Given the description of an element on the screen output the (x, y) to click on. 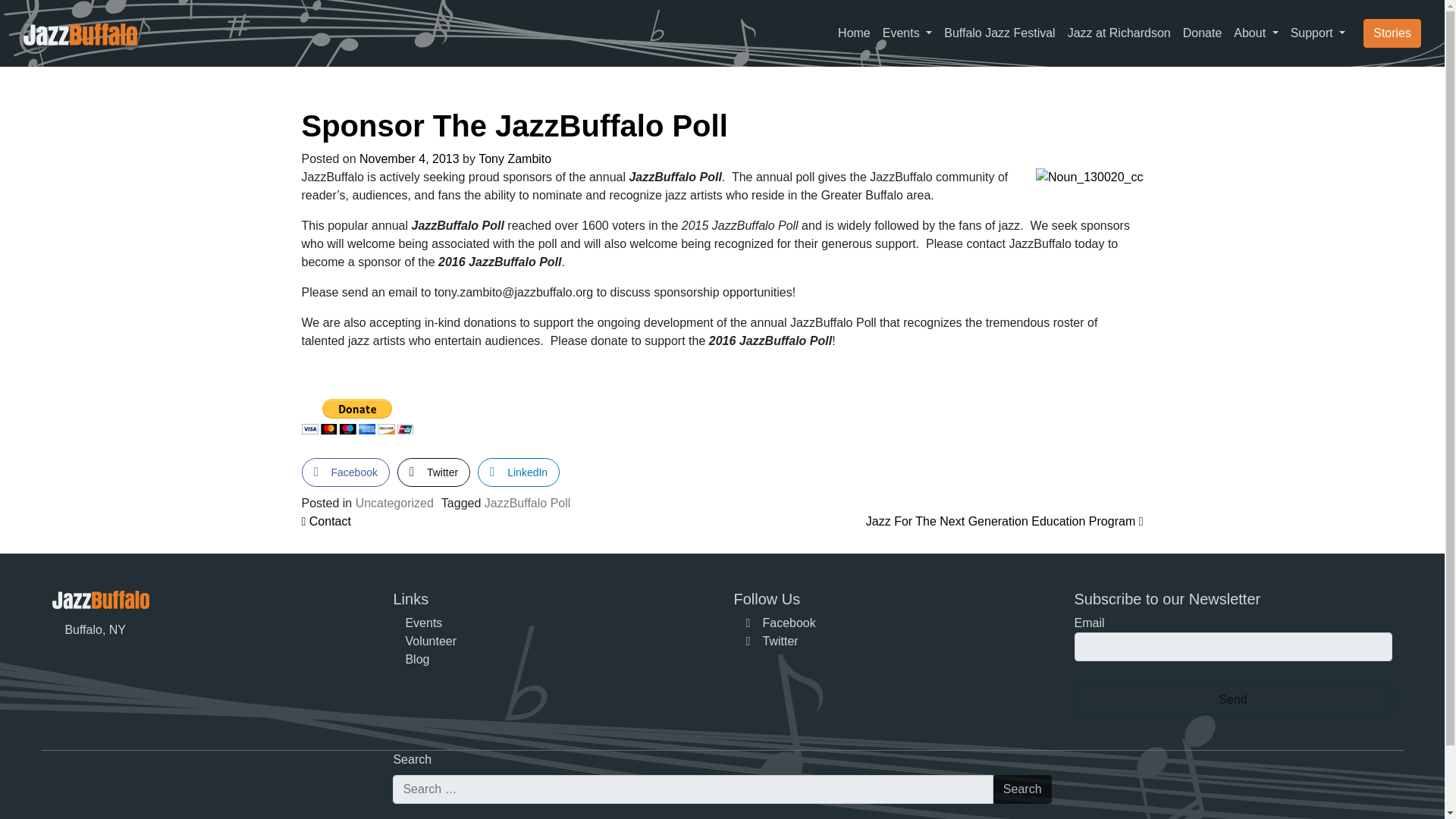
Jazz at Richardson (1118, 33)
Donate (1202, 33)
Events (906, 33)
Search (1021, 788)
Support (1318, 33)
About (1255, 33)
About (1255, 33)
Send (1232, 699)
Uncategorized (394, 502)
Twitter (433, 471)
JazzBuffalo Poll (527, 502)
Blog (416, 658)
Send (1232, 699)
Volunteer (430, 640)
Home (853, 33)
